Given the description of an element on the screen output the (x, y) to click on. 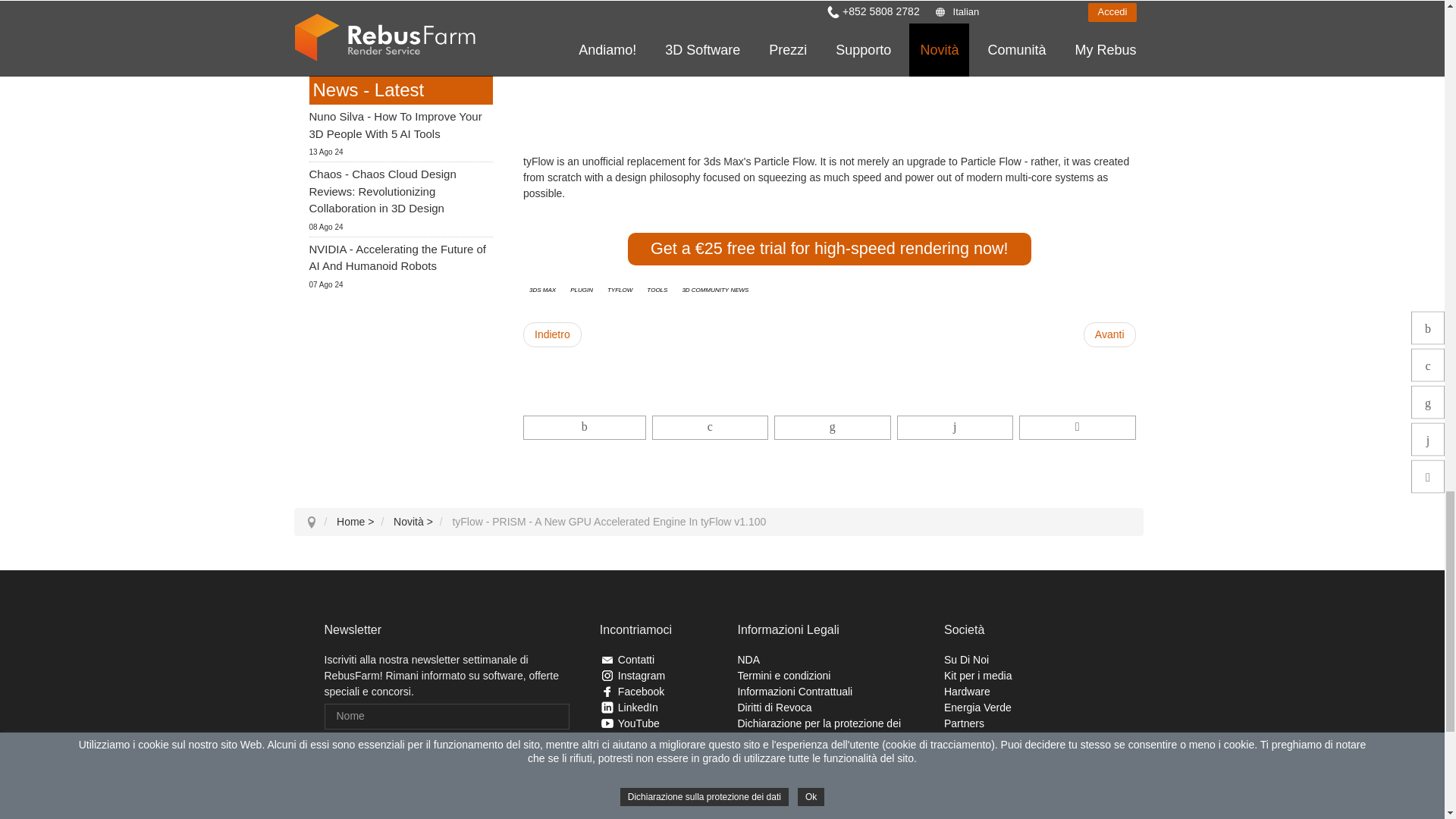
tyFlow v1.100 - PRISM  (1074, 87)
E-Mail (446, 749)
Nome (446, 716)
